Given the description of an element on the screen output the (x, y) to click on. 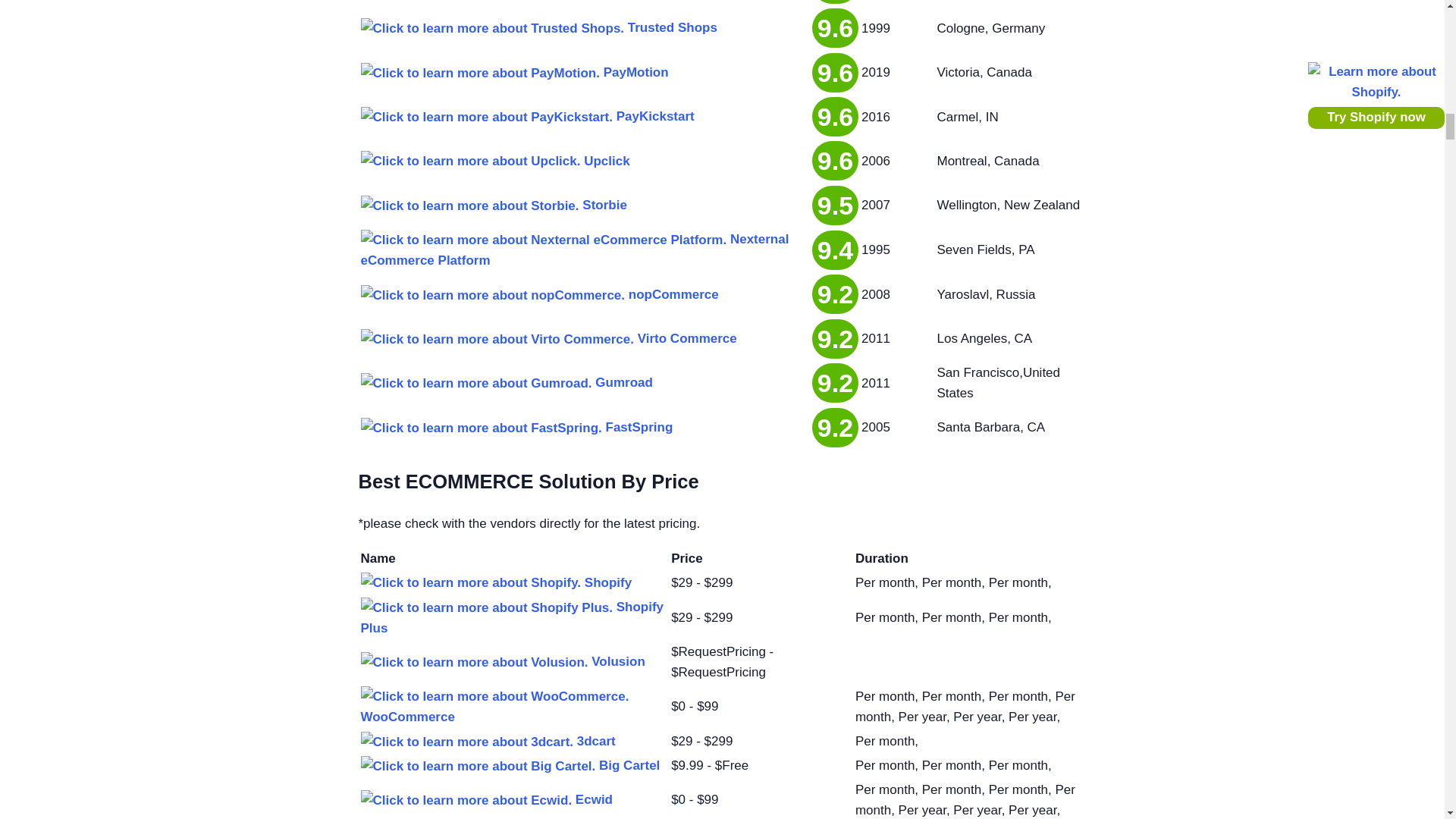
Click to learn more about Storbie (470, 205)
Click to learn more about Upclick (470, 160)
Click to learn more about nopCommerce (493, 295)
Click to learn more about PayKickstart (486, 117)
Click to learn more about Trusted Shops (492, 28)
Click to learn more about Nexternal eCommerce Platform (543, 240)
Click to learn more about PayMotion (480, 73)
Click to learn more about Virto Commerce (497, 339)
